Given the description of an element on the screen output the (x, y) to click on. 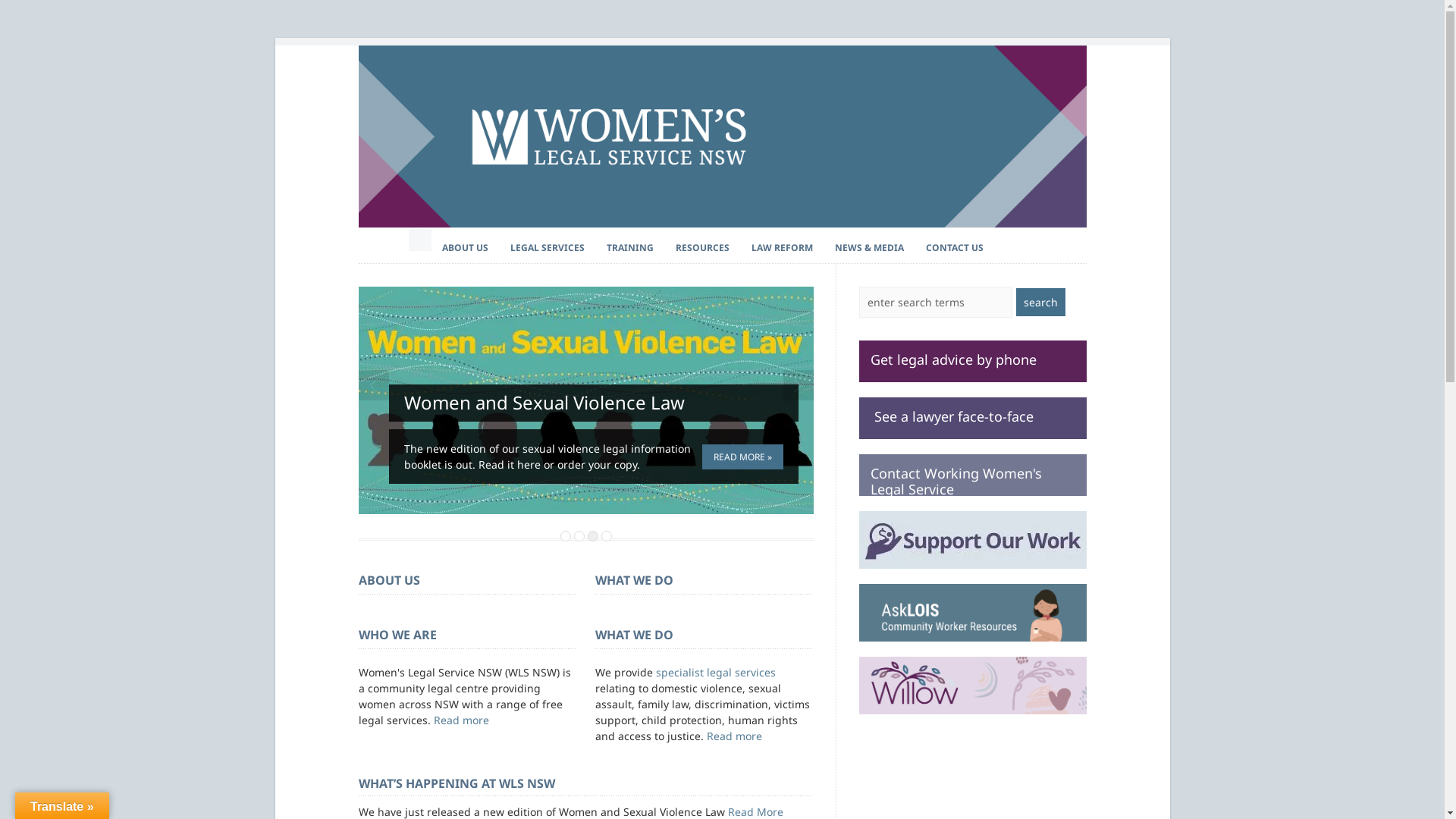
Read more Element type: text (734, 735)
specialist legal services Element type: text (715, 672)
search Element type: text (1040, 302)
Permanent Link to Women and Sexual Violence Law Element type: hover (584, 400)
ABOUT US Element type: text (464, 247)
CONTACT US Element type: text (954, 247)
Follow us on Twitter Element type: hover (1005, 240)
RESOURCES Element type: text (702, 247)
Support Us Element type: hover (971, 539)
3 Element type: text (591, 535)
Contact Working Women's Legal Service Element type: text (971, 474)
 See a lawyer face-to-face Element type: text (971, 418)
2 Element type: text (578, 535)
Get legal advice by phone Element type: text (971, 361)
Women's Legal Service NSW Element type: hover (721, 222)
Visit the AskLOIS website Element type: hover (971, 612)
NEWS & MEDIA Element type: text (869, 247)
LEGAL SERVICES Element type: text (547, 247)
Next Element type: text (797, 385)
Willow - Women's legal advice on the go Element type: hover (971, 685)
4 Element type: text (605, 535)
LAW REFORM Element type: text (782, 247)
1 Element type: text (564, 535)
Home Element type: hover (419, 240)
Connect on Facebook Element type: hover (1027, 240)
TRAINING Element type: text (630, 247)
Previous Element type: text (372, 385)
Read more Element type: text (461, 719)
